Given the description of an element on the screen output the (x, y) to click on. 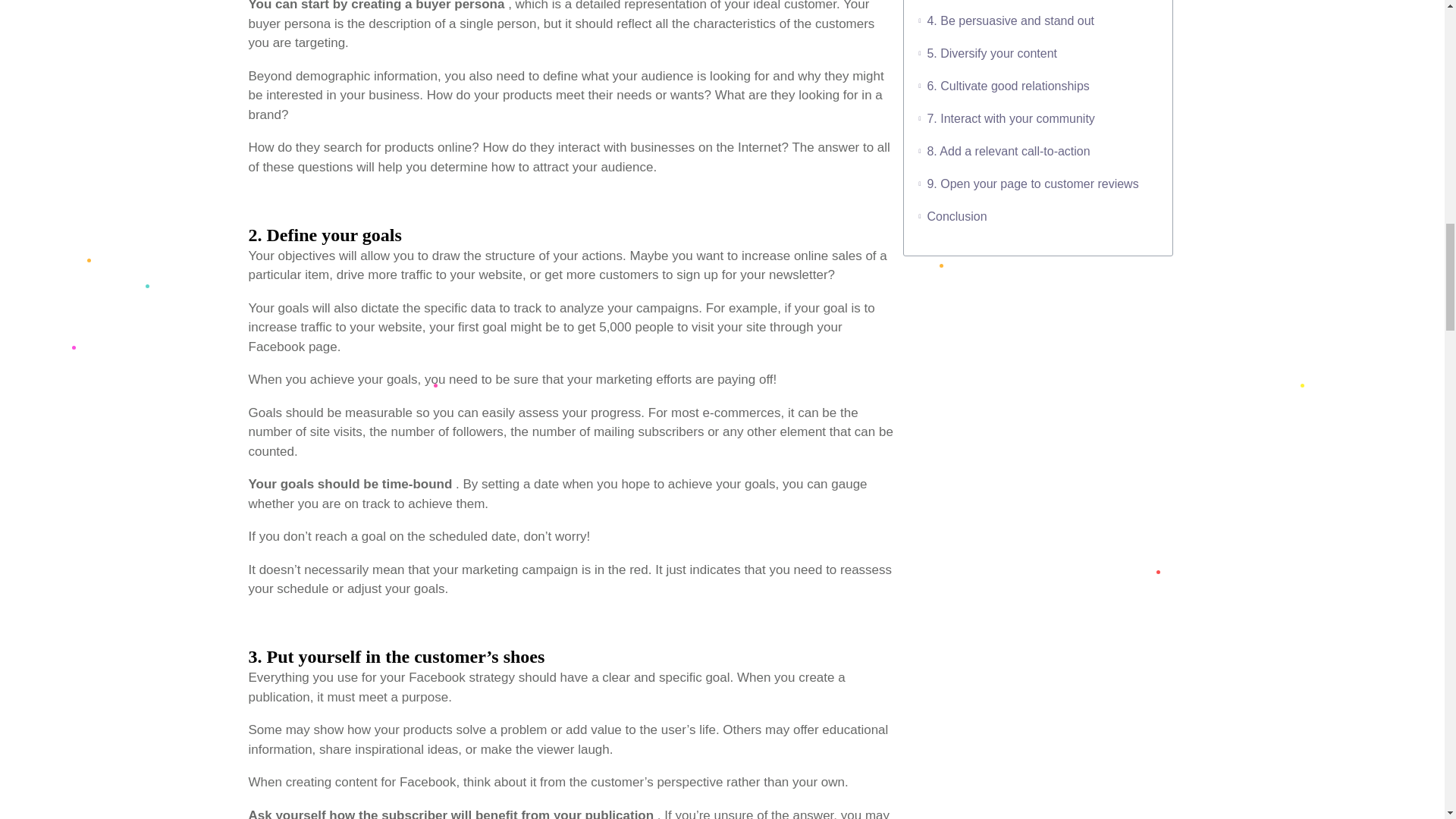
Conclusion (956, 216)
8. Add a relevant call-to-action (1007, 150)
6. Cultivate good relationships (1007, 86)
5. Diversify your content (991, 53)
7. Interact with your community (1010, 118)
9. Open your page to customer reviews (1032, 183)
4. Be persuasive and stand out (1010, 20)
